Given the description of an element on the screen output the (x, y) to click on. 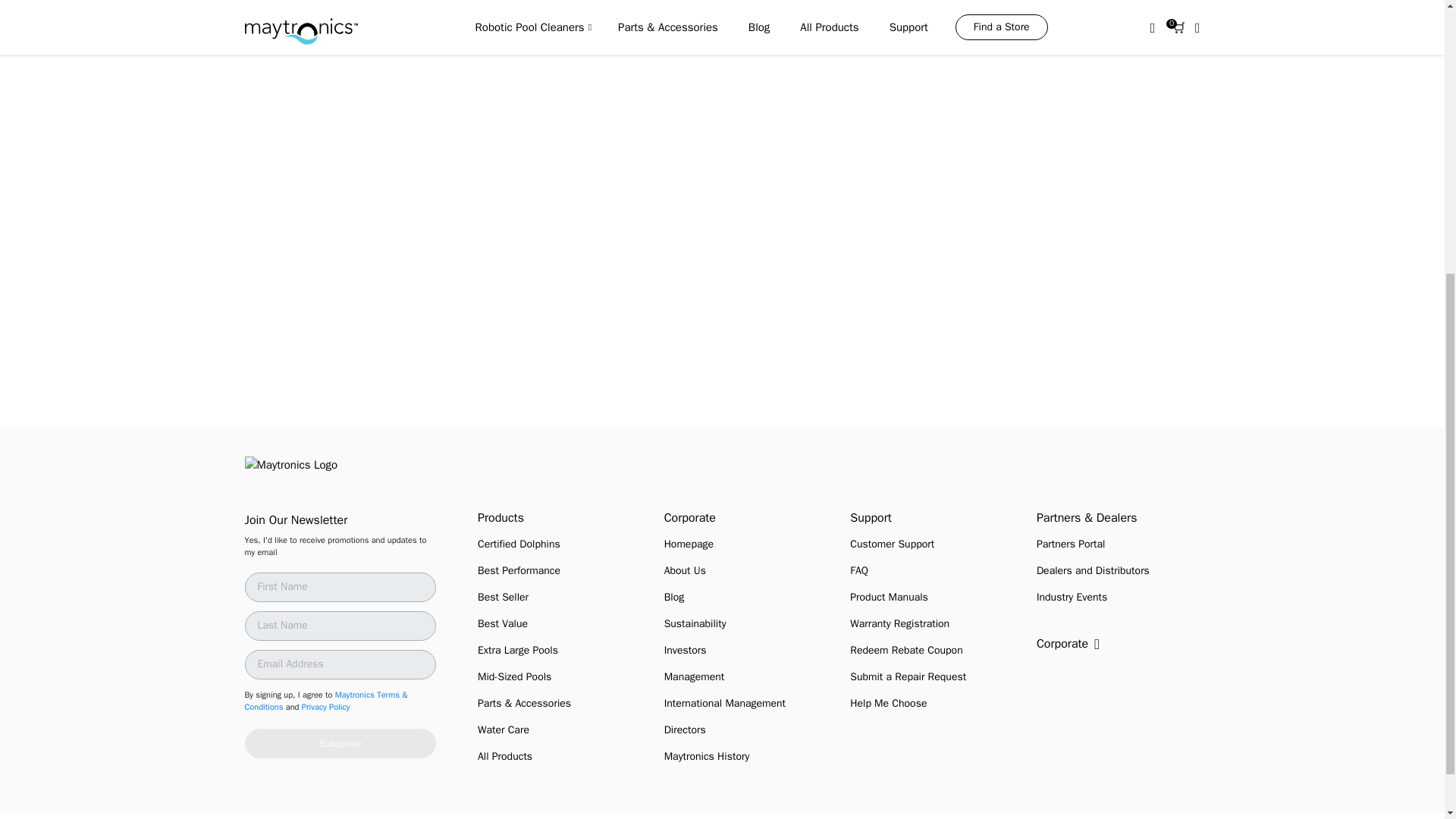
Homepage (688, 543)
All Products (504, 756)
Best Seller (502, 596)
Mid-Sized Pools (514, 676)
Water Care (503, 729)
Extra Large Pools (517, 649)
Best Performance (518, 570)
About Us (684, 570)
Best Value (502, 623)
